Given the description of an element on the screen output the (x, y) to click on. 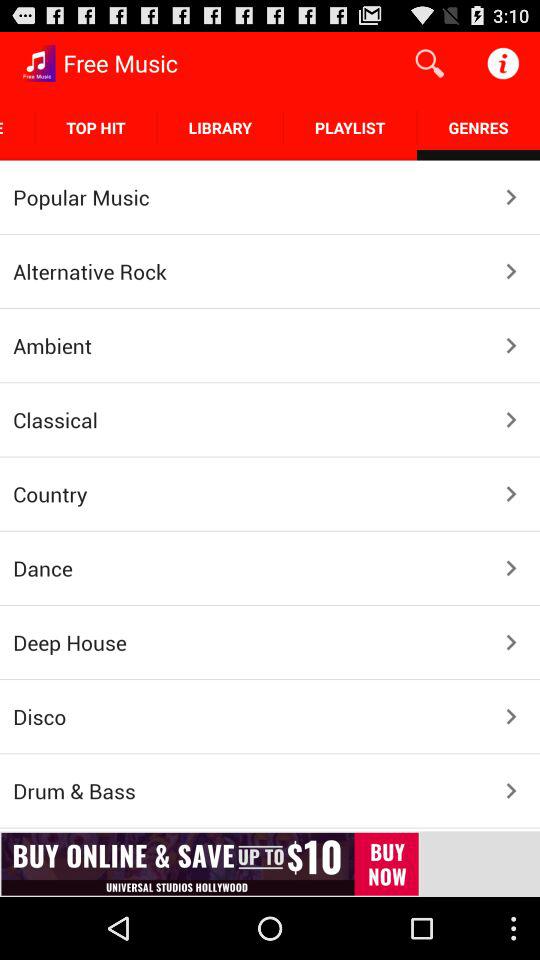
advertisement (270, 864)
